Given the description of an element on the screen output the (x, y) to click on. 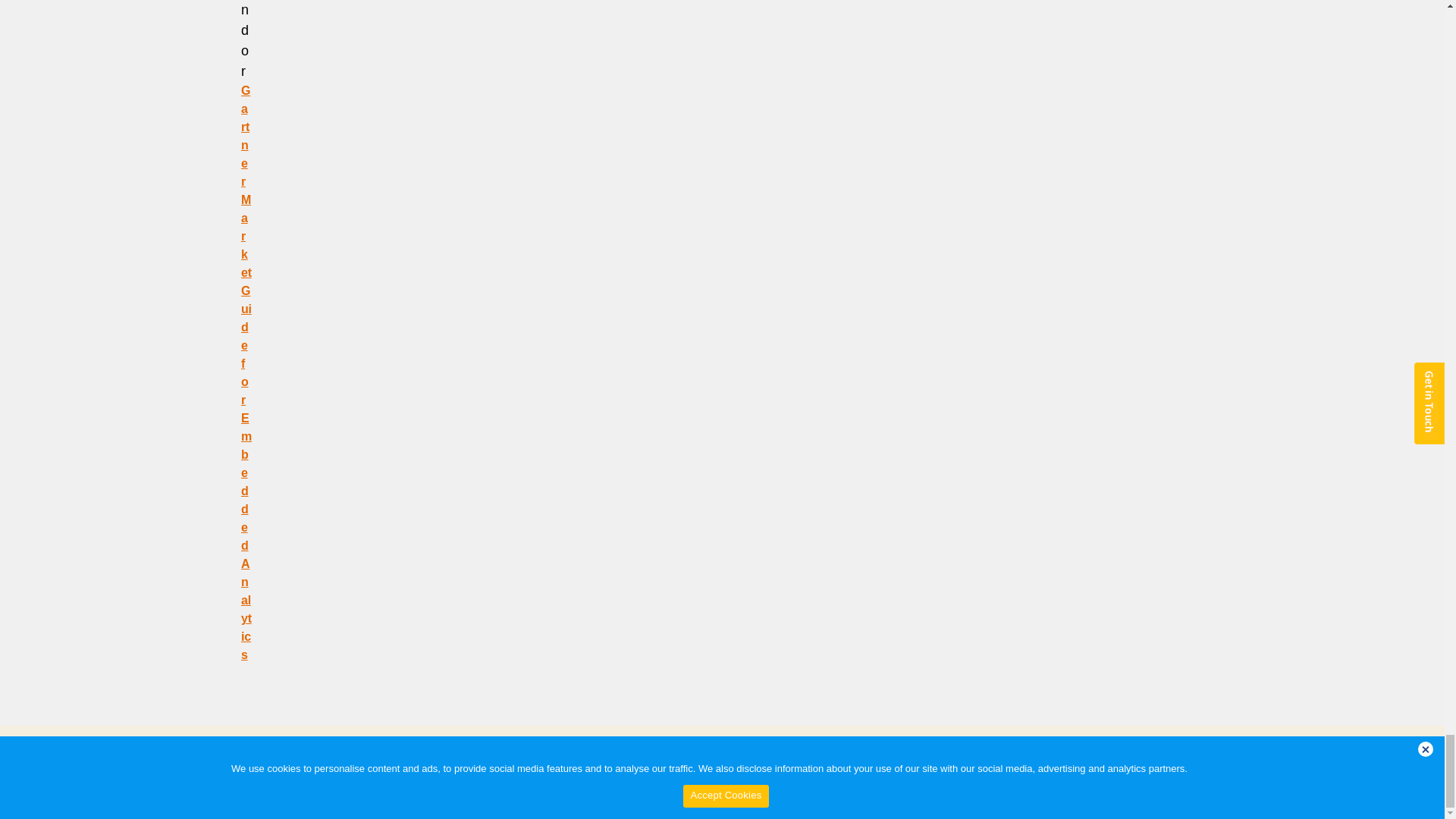
Read Smarten Reviews on GetApp (56, 804)
